Given the description of an element on the screen output the (x, y) to click on. 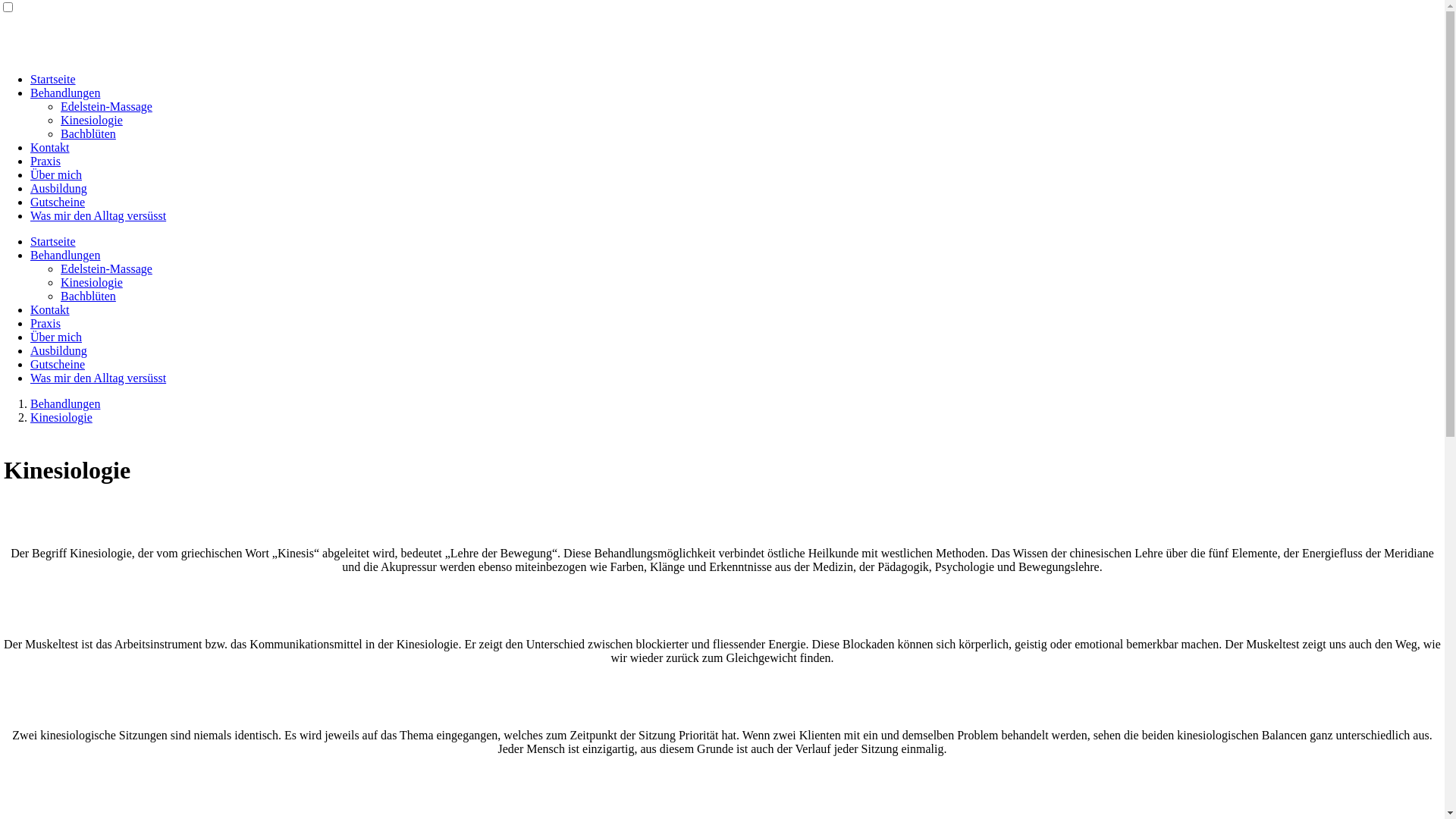
Praxis Element type: text (45, 322)
Gutscheine Element type: text (57, 363)
Gutscheine Element type: text (57, 201)
Behandlungen Element type: text (65, 254)
Edelstein-Massage Element type: text (106, 268)
Kinesiologie Element type: text (61, 417)
Behandlungen Element type: text (65, 92)
Kinesiologie Element type: text (91, 282)
Edelstein-Massage Element type: text (106, 106)
Ausbildung Element type: text (58, 188)
Startseite Element type: text (52, 78)
Praxis Element type: text (45, 160)
Startseite Element type: text (52, 241)
Kontakt Element type: text (49, 147)
Ausbildung Element type: text (58, 350)
Kinesiologie Element type: text (91, 119)
Kontakt Element type: text (49, 309)
Behandlungen Element type: text (65, 403)
